Given the description of an element on the screen output the (x, y) to click on. 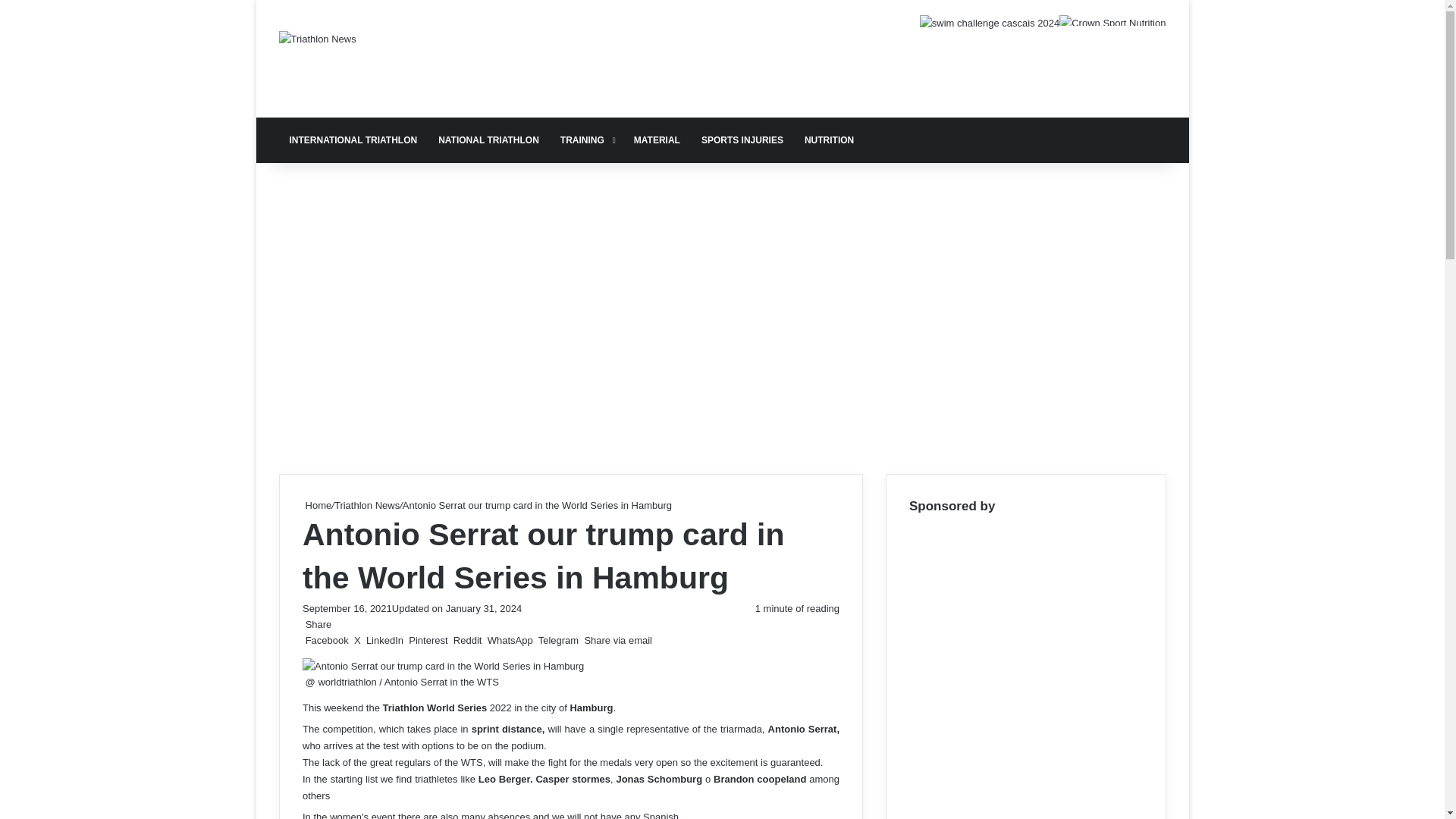
SPORTS INJURIES (741, 139)
Home (315, 505)
WhatsApp (509, 640)
Pinterest (427, 640)
NUTRITION (828, 139)
Antonio Serrat (801, 728)
Triathlon News (317, 38)
X (356, 640)
Triathlon News (365, 505)
Share via email (615, 640)
